Given the description of an element on the screen output the (x, y) to click on. 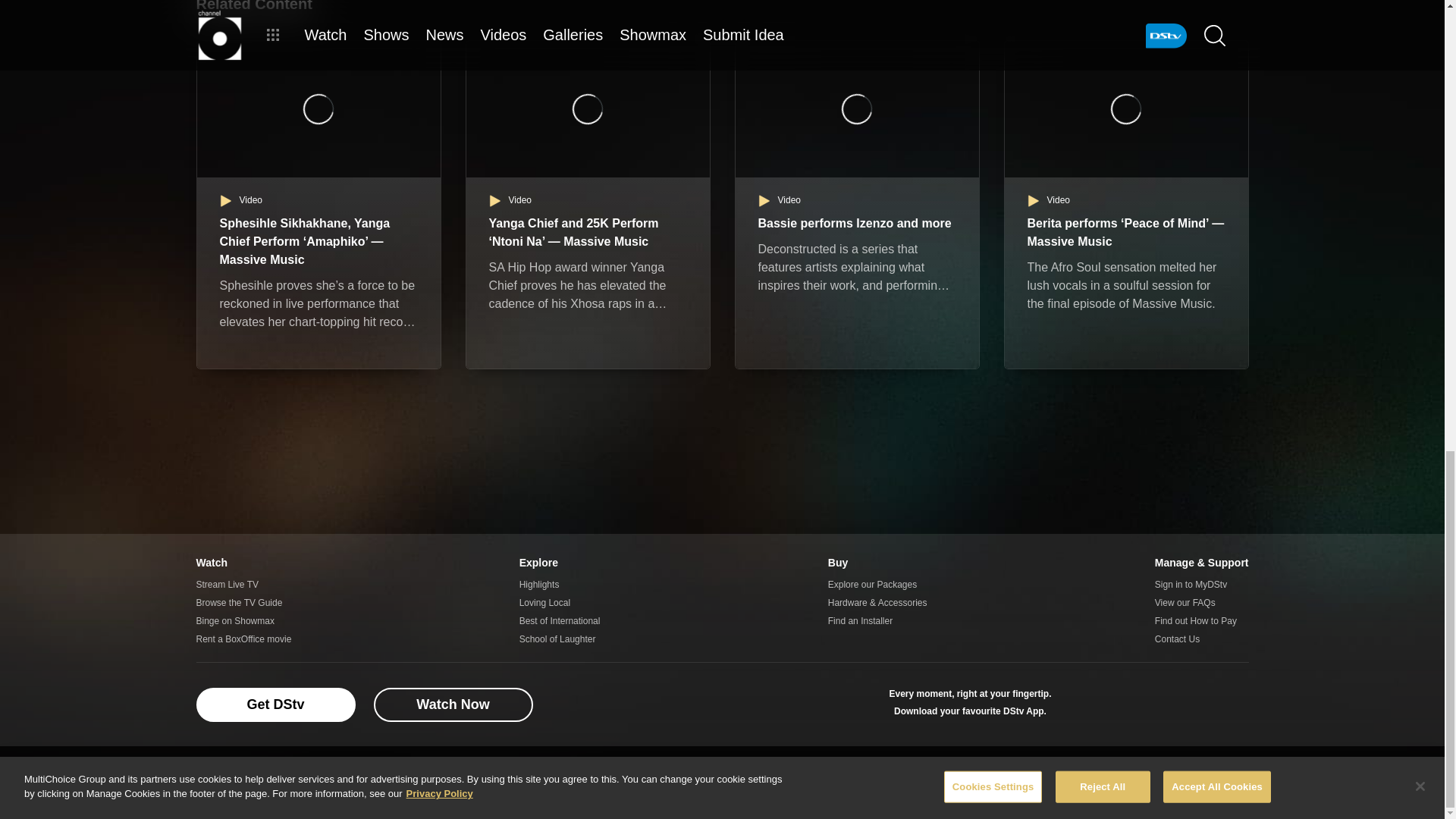
Rent a BoxOffice movie (243, 638)
WebURL (1180, 704)
Loving Local (559, 602)
Watch Now (452, 704)
Contact Us (1201, 638)
WebURL (1131, 704)
Browse the TV Guide (243, 602)
Best of International (559, 620)
Copyright (701, 775)
Highlights (559, 584)
Stream Live TV (243, 584)
Binge on Showmax (243, 620)
Google (1081, 704)
Responsible Disclosure Policy (609, 775)
Find an Installer (877, 620)
